Given the description of an element on the screen output the (x, y) to click on. 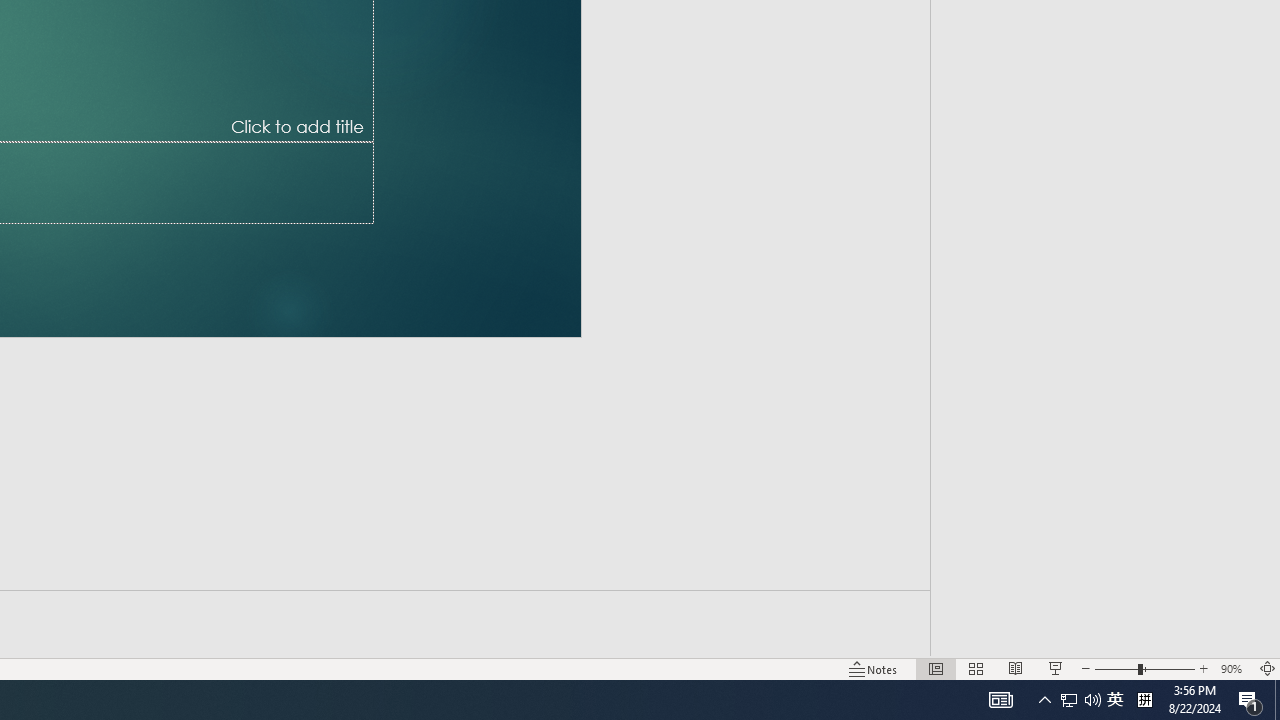
Zoom 90% (1234, 668)
